Given the description of an element on the screen output the (x, y) to click on. 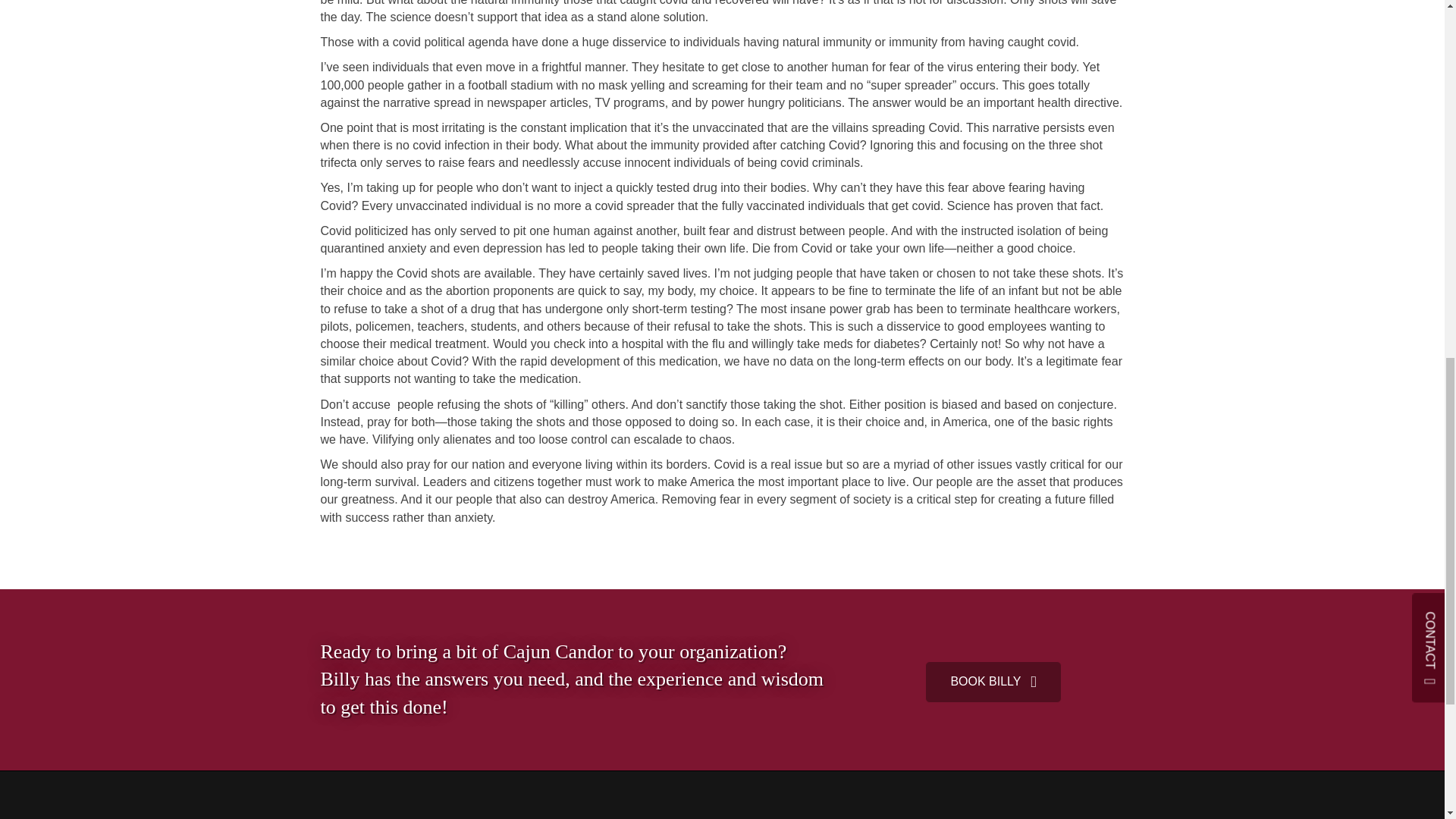
BOOK BILLY (992, 681)
